Given the description of an element on the screen output the (x, y) to click on. 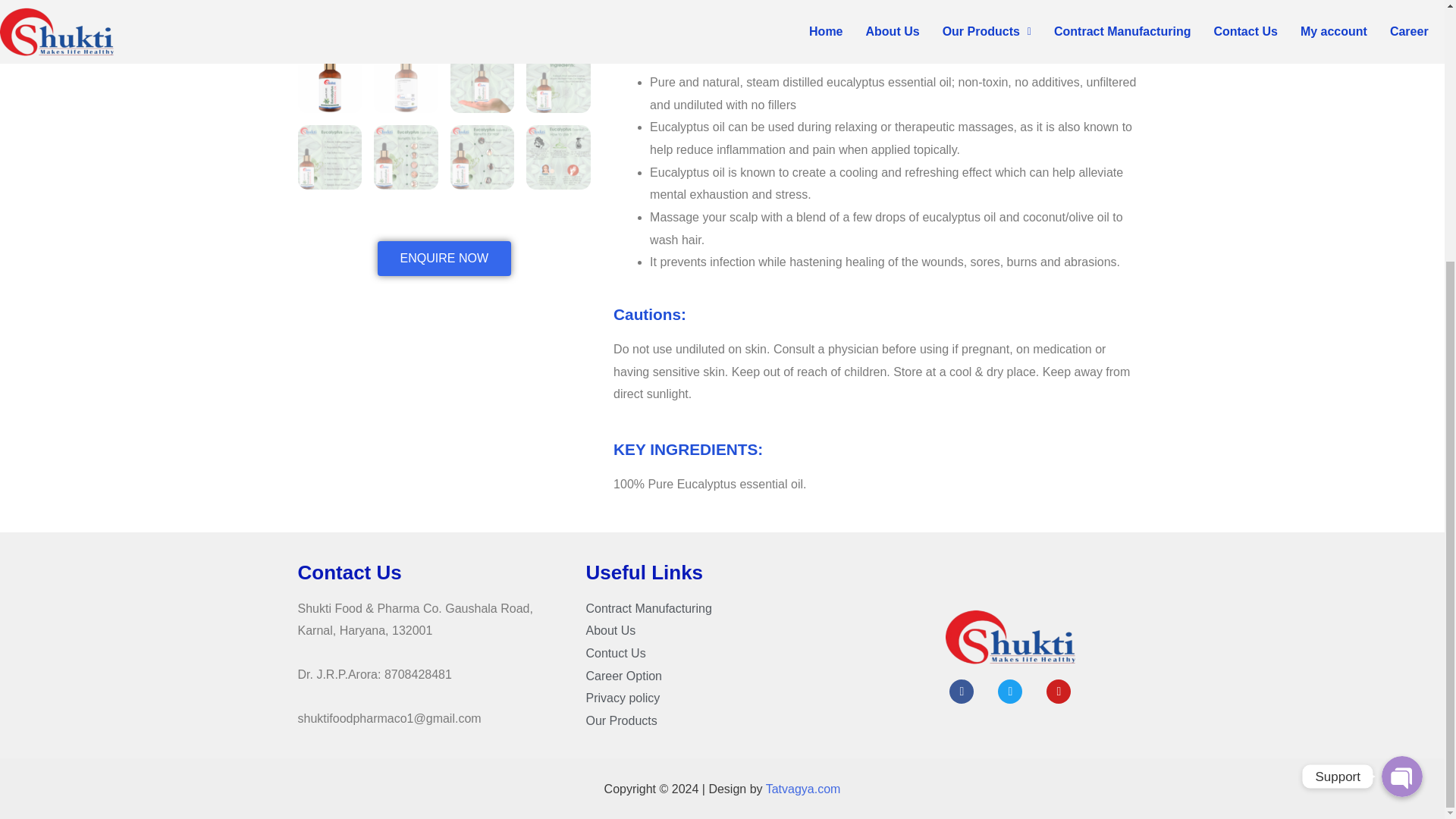
ENQUIRE NOW (444, 258)
Contract Manufacturing (722, 608)
1 (444, 18)
2 (737, 18)
About Us (722, 630)
Contuct Us (722, 653)
